Given the description of an element on the screen output the (x, y) to click on. 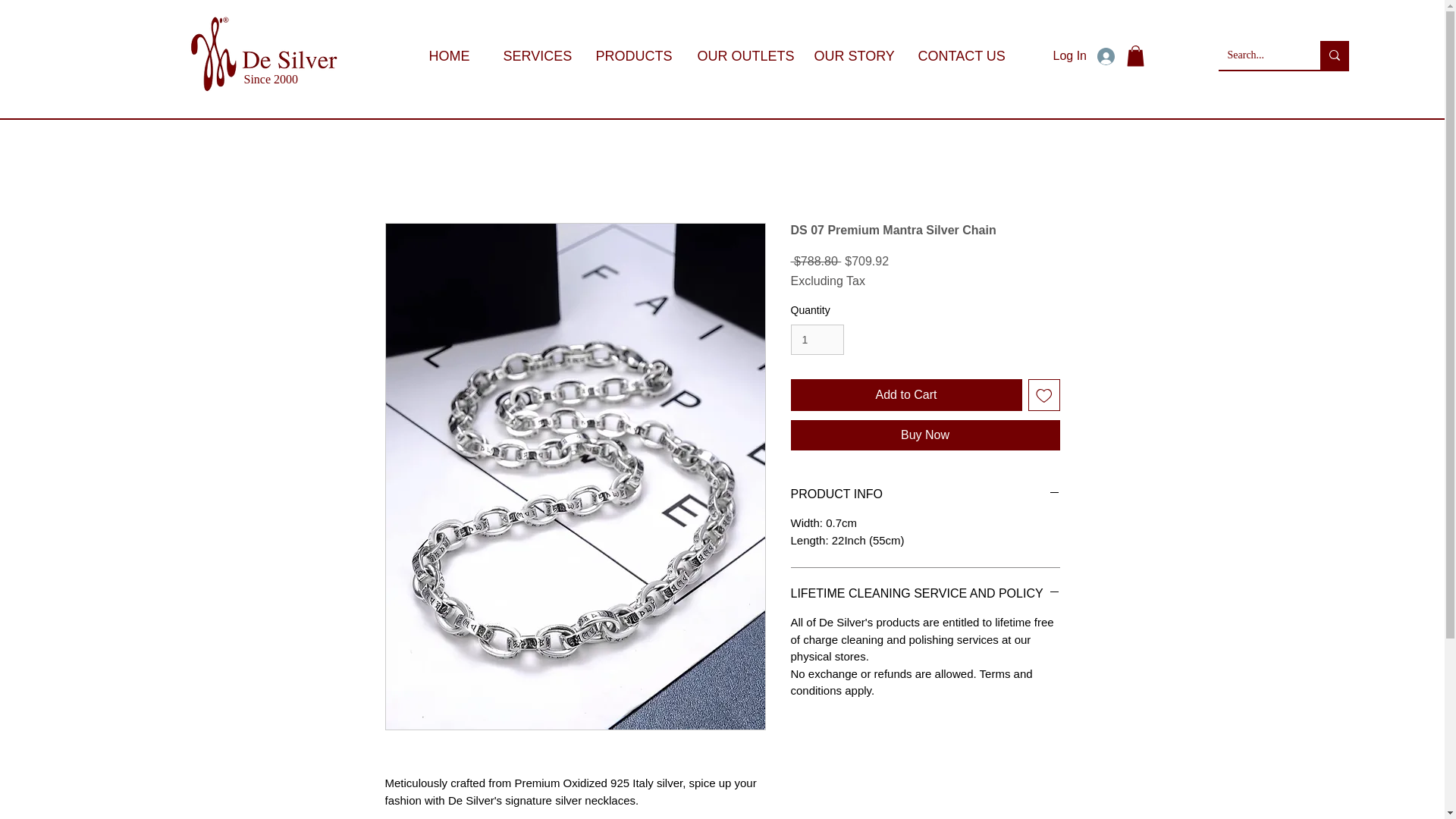
PRODUCT INFO (924, 494)
Add to Cart (906, 395)
OUR OUTLETS (736, 55)
CONTACT US (954, 55)
PRODUCTS (627, 55)
HOME (446, 55)
Buy Now (924, 435)
Log In (1083, 55)
SERVICES (529, 55)
LIFETIME CLEANING SERVICE AND POLICY (924, 593)
